Given the description of an element on the screen output the (x, y) to click on. 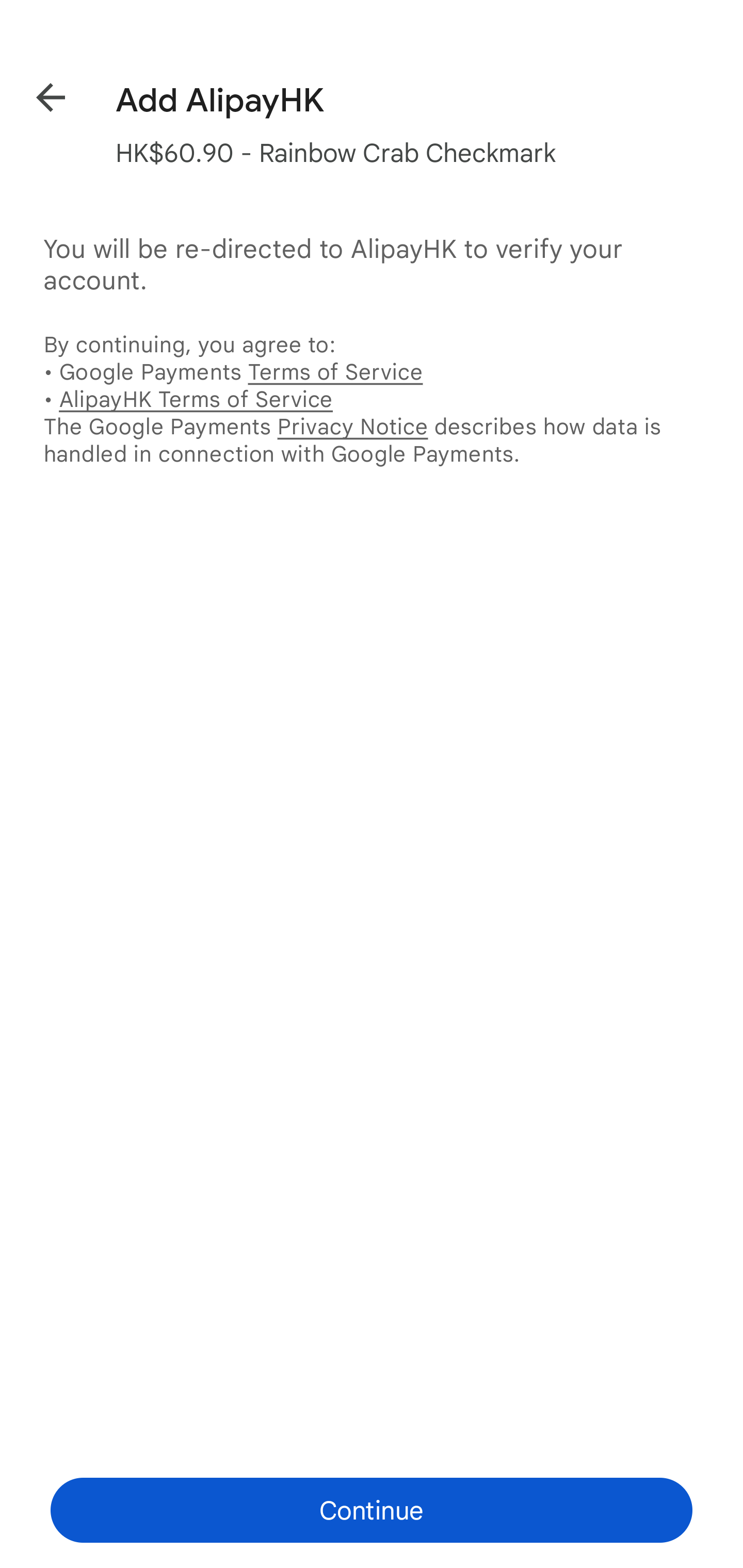
Back (36, 94)
Terms of Service (334, 372)
AlipayHK Terms of Service (195, 398)
Privacy Notice (352, 426)
Continue (371, 1510)
